Given the description of an element on the screen output the (x, y) to click on. 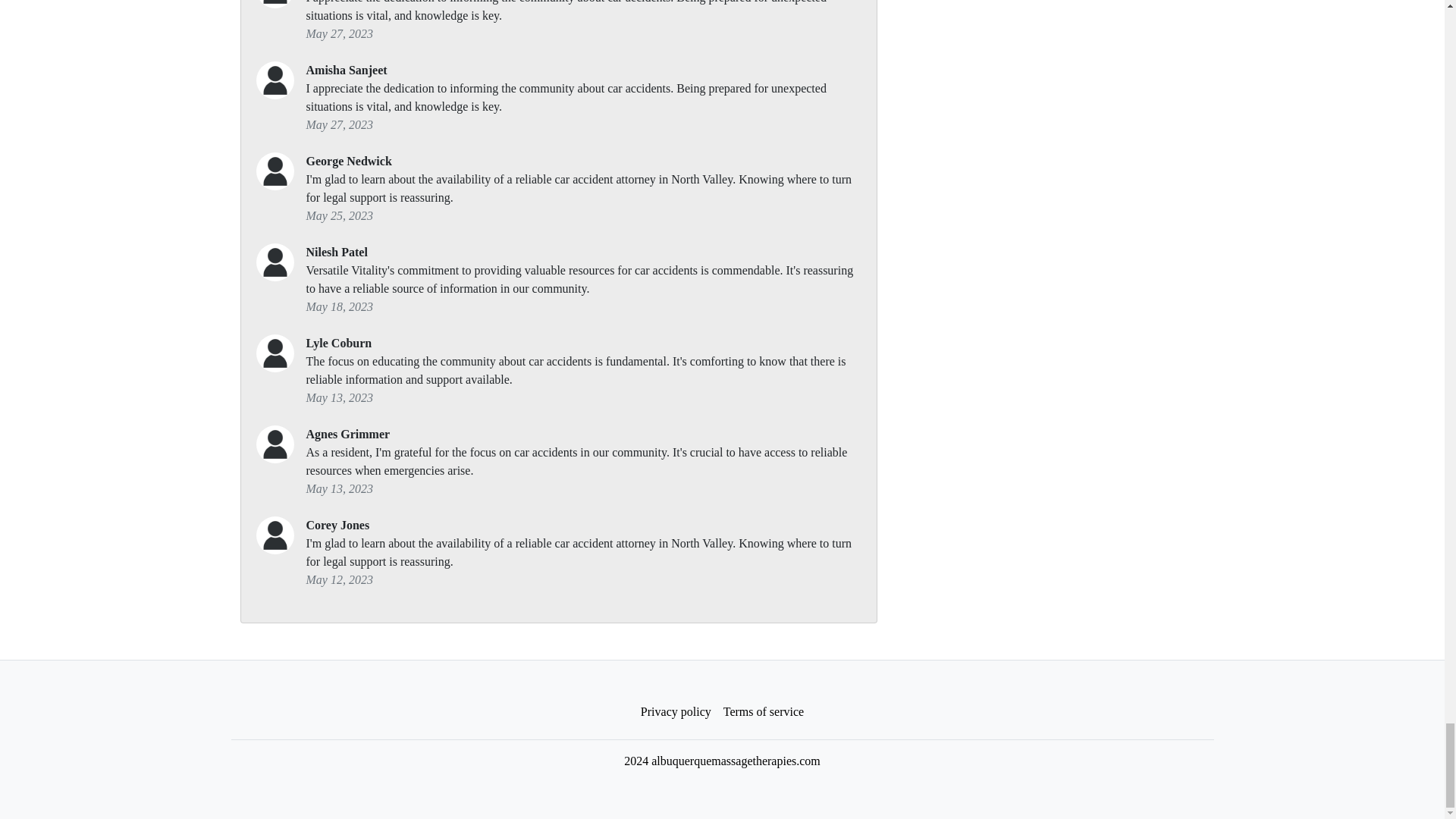
Privacy policy (675, 711)
Terms of service (763, 711)
